Given the description of an element on the screen output the (x, y) to click on. 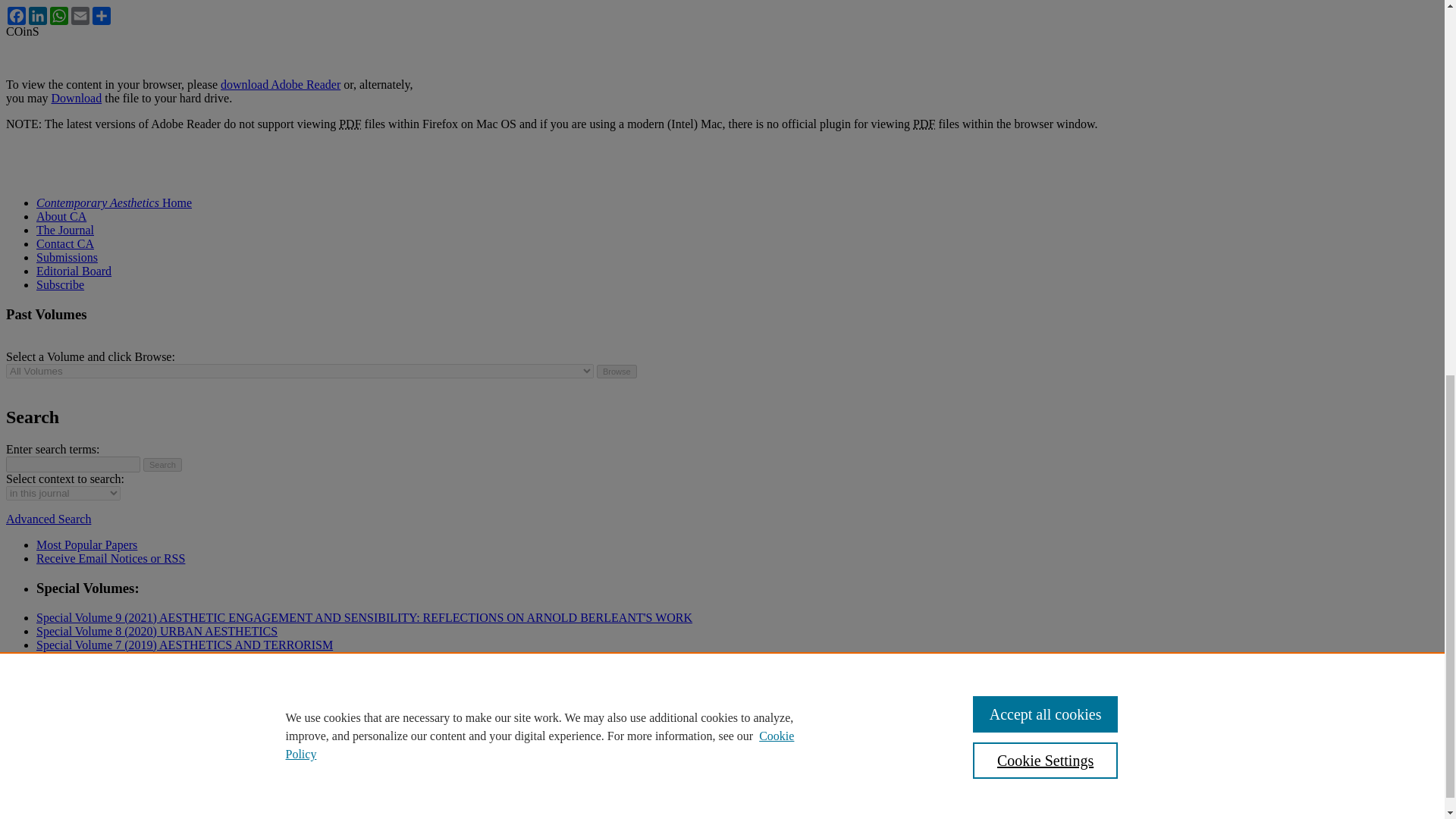
Editorial Board (74, 270)
Subscribe (60, 284)
Advanced Search (47, 518)
Download (75, 97)
About CA (60, 215)
Portable Document Format (923, 123)
Email (79, 15)
Search (162, 464)
Adobe - Adobe Reader download (280, 83)
Contemporary Aesthetics Home (114, 202)
Portable Document Format (350, 123)
Contemporary Aesthetics Home (114, 202)
Share (101, 15)
LinkedIn (37, 15)
download Adobe Reader (280, 83)
